Given the description of an element on the screen output the (x, y) to click on. 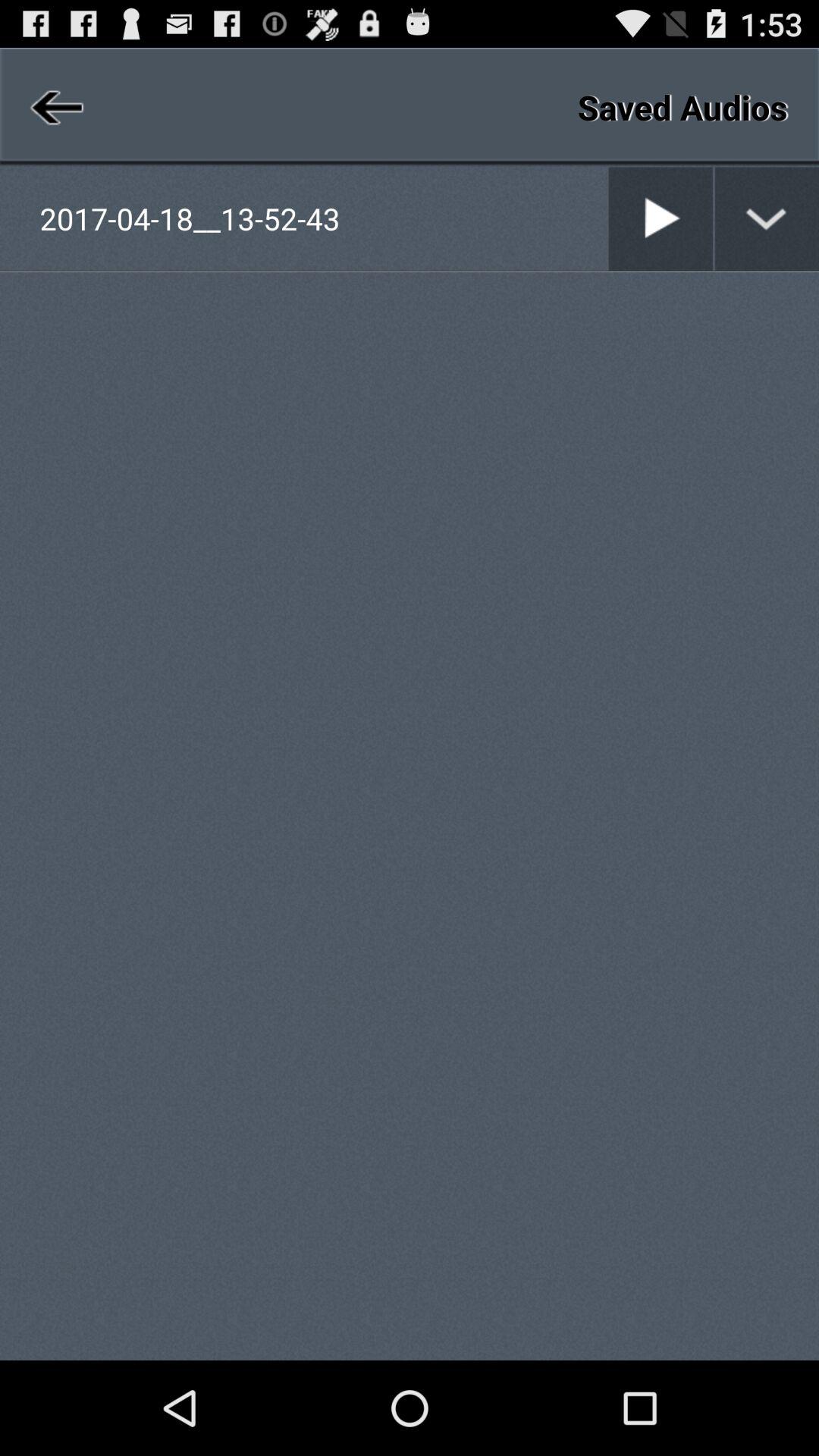
click app next to the saved audios (54, 107)
